Given the description of an element on the screen output the (x, y) to click on. 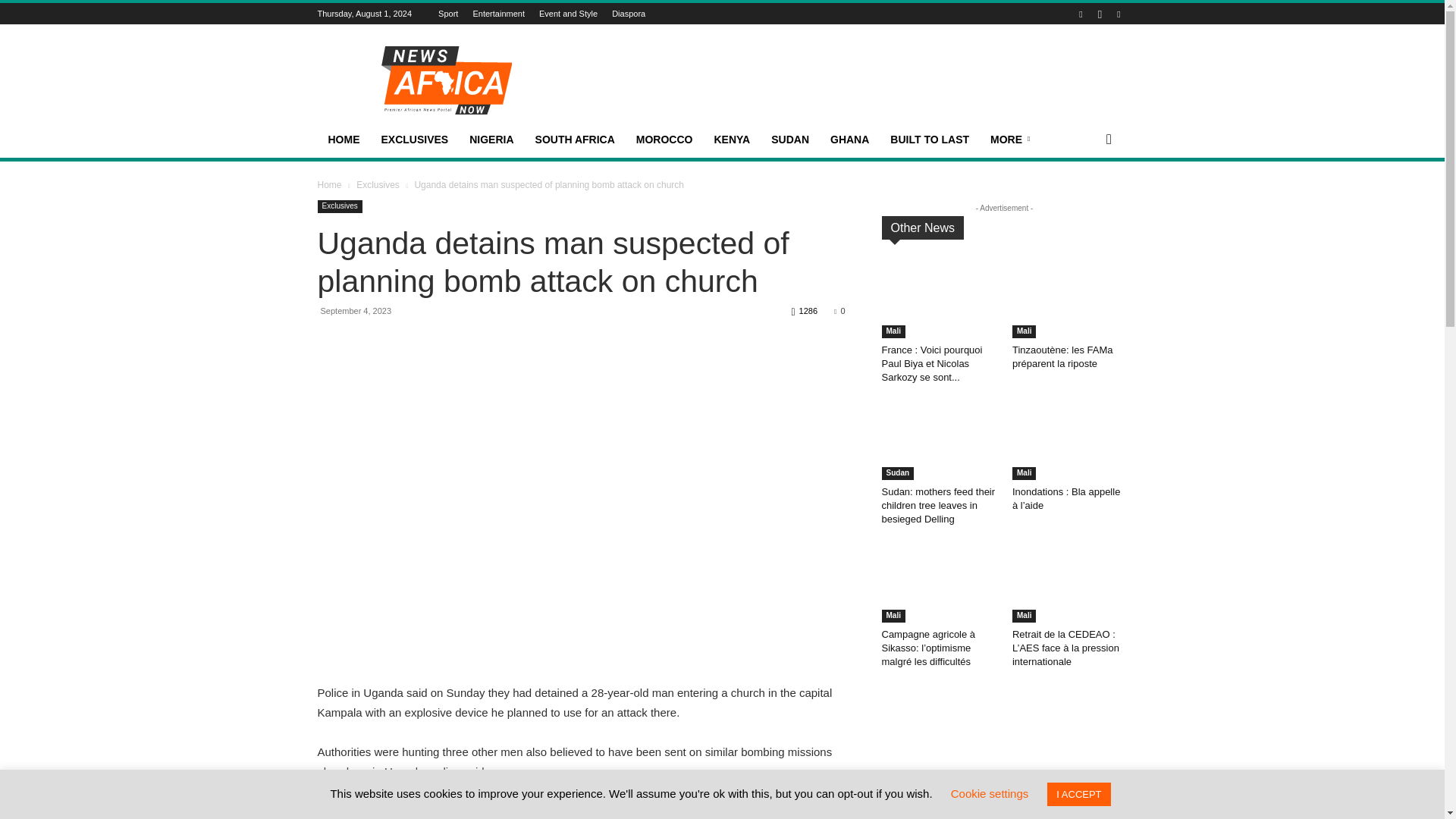
SOUTH AFRICA (575, 139)
Diaspora (616, 13)
Entertainment (486, 13)
Event and Style (556, 13)
EXCLUSIVES (413, 139)
NIGERIA (491, 139)
MOROCCO (664, 139)
HOME (343, 139)
View all posts in Exclusives (377, 184)
Sport (436, 13)
